Given the description of an element on the screen output the (x, y) to click on. 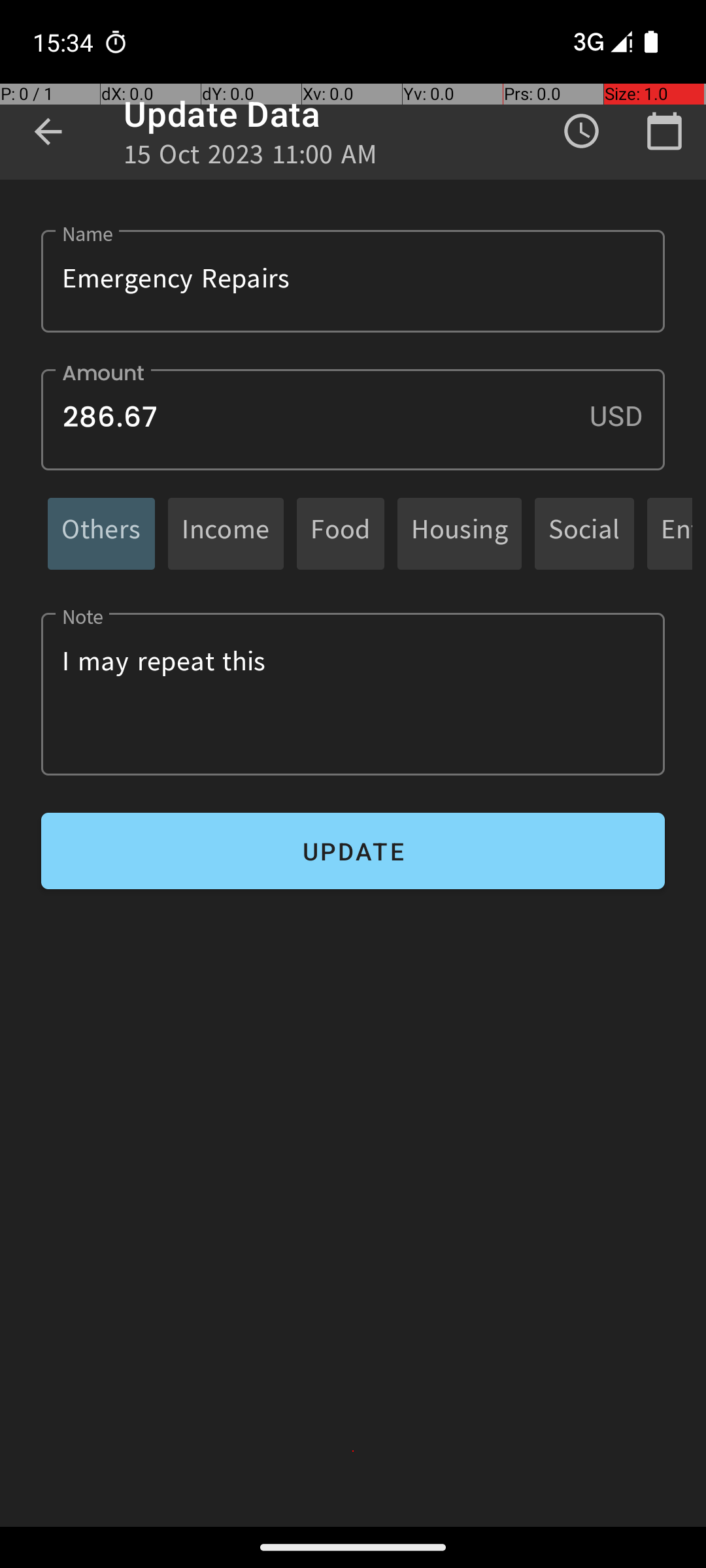
15 Oct 2023 11:00 AM Element type: android.widget.TextView (250, 157)
Emergency Repairs Element type: android.widget.EditText (352, 280)
286.67 Element type: android.widget.EditText (352, 419)
Others Element type: android.widget.TextView (101, 533)
